Given the description of an element on the screen output the (x, y) to click on. 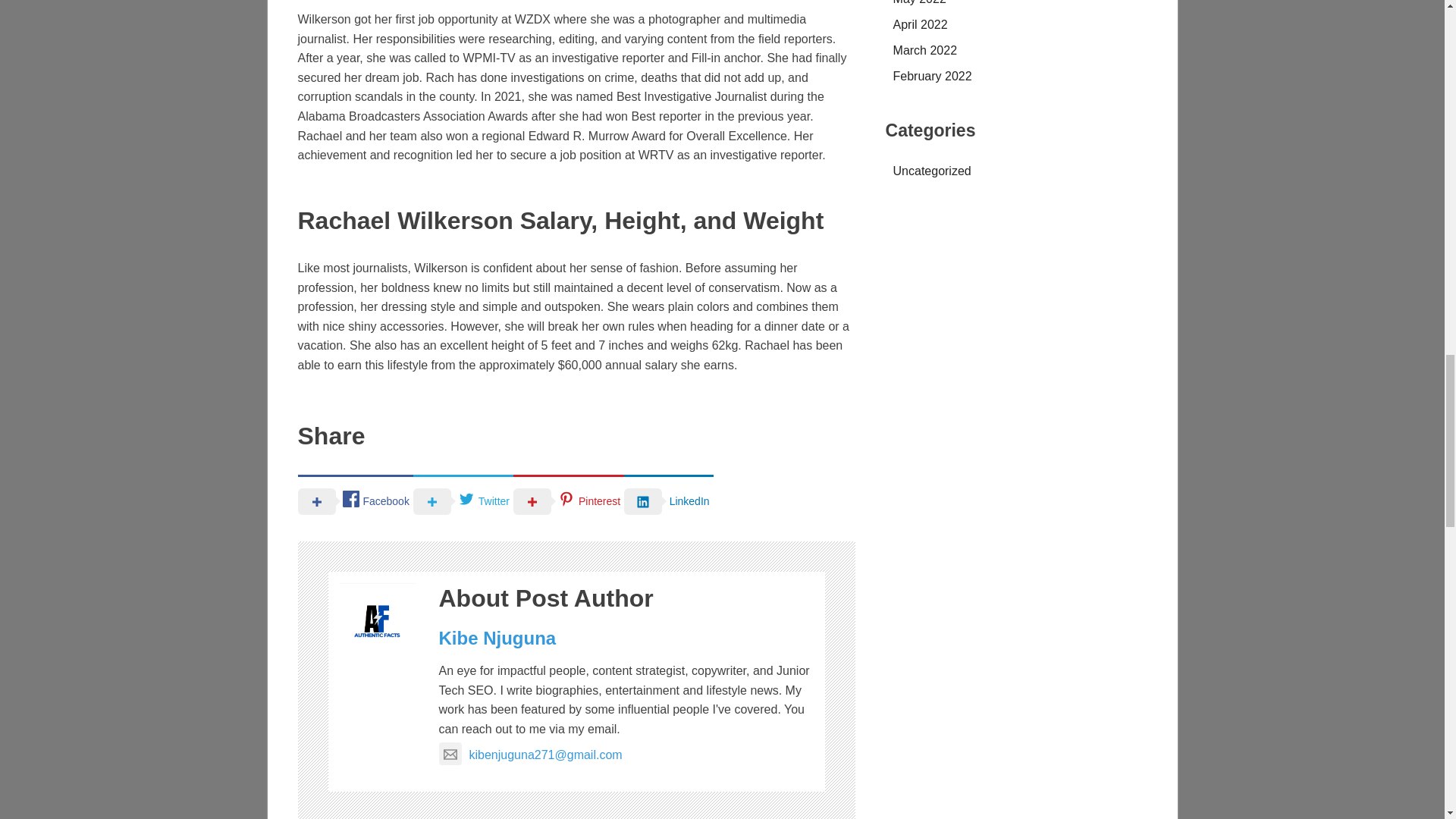
Twitter (463, 501)
Facebook (354, 501)
LinkedIn (668, 501)
Pinterest (568, 501)
Kibe Njuguna (497, 638)
